Given the description of an element on the screen output the (x, y) to click on. 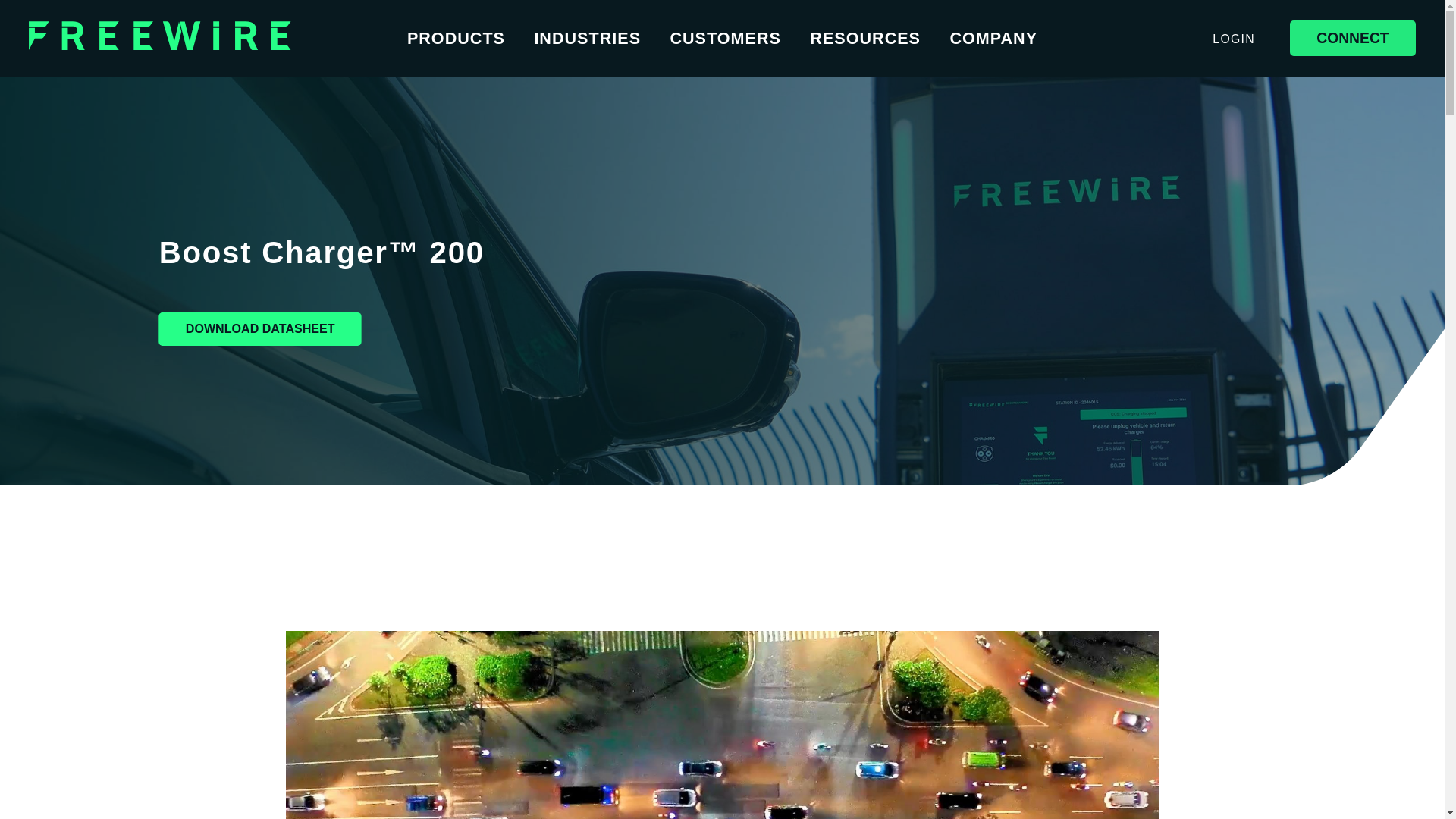
INDUSTRIES (587, 38)
COMPANY (992, 38)
PRODUCTS (456, 38)
RESOURCES (864, 38)
CUSTOMERS (724, 38)
